Given the description of an element on the screen output the (x, y) to click on. 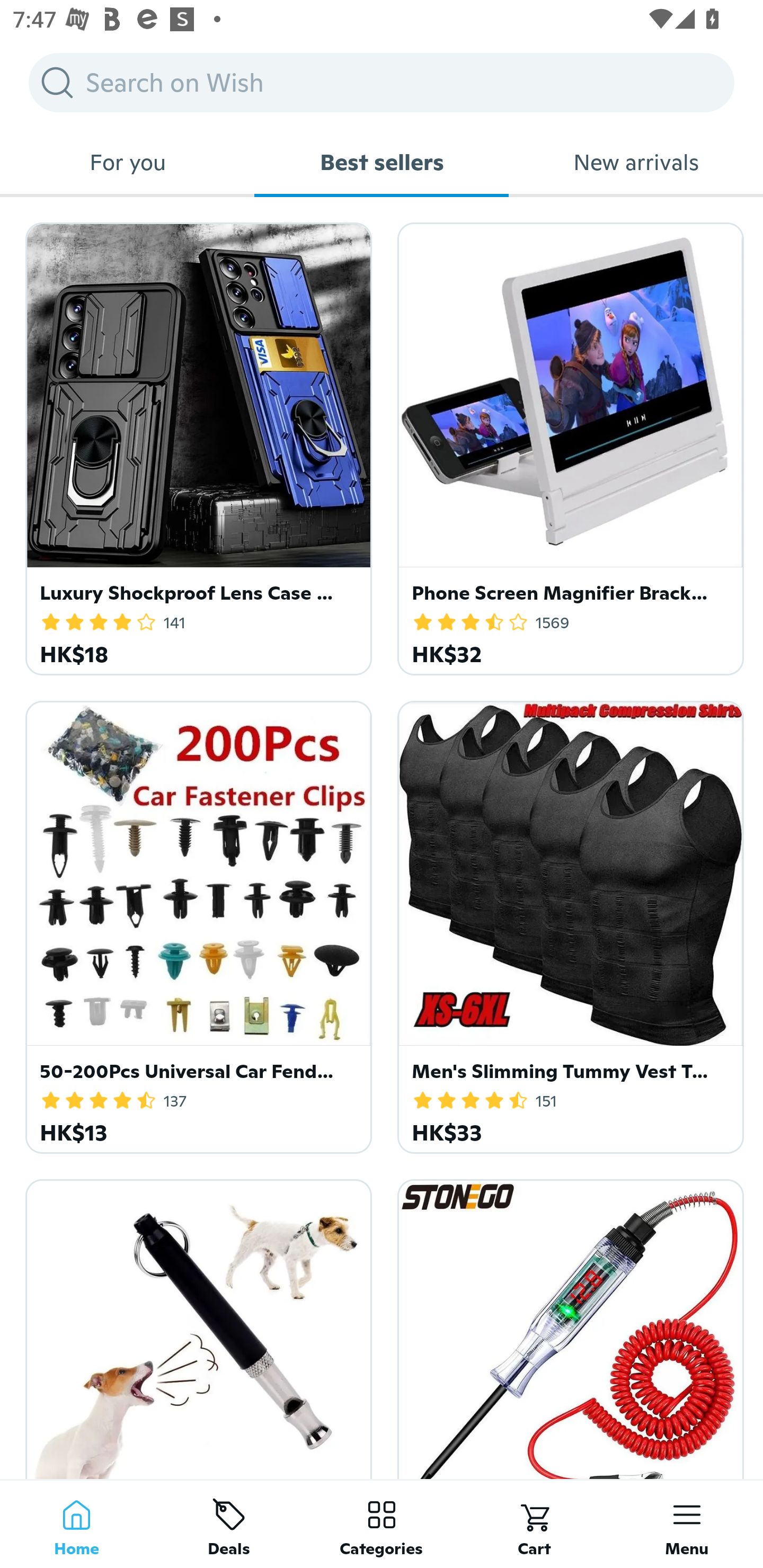
Search on Wish (381, 82)
For you (127, 161)
Best sellers (381, 161)
New arrivals (635, 161)
Home (76, 1523)
Deals (228, 1523)
Categories (381, 1523)
Cart (533, 1523)
Menu (686, 1523)
